Given the description of an element on the screen output the (x, y) to click on. 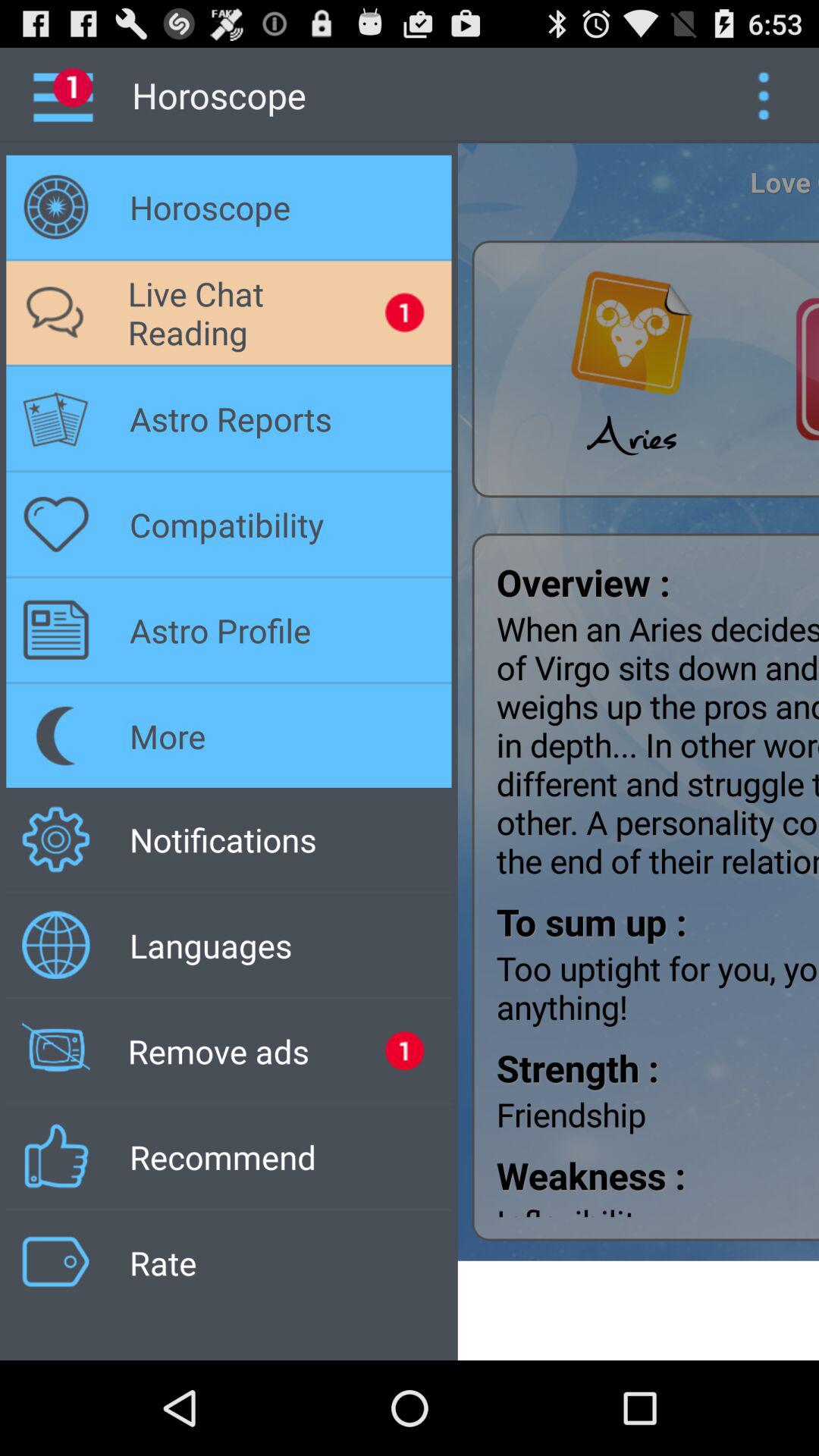
tap button for more information (763, 95)
